Given the description of an element on the screen output the (x, y) to click on. 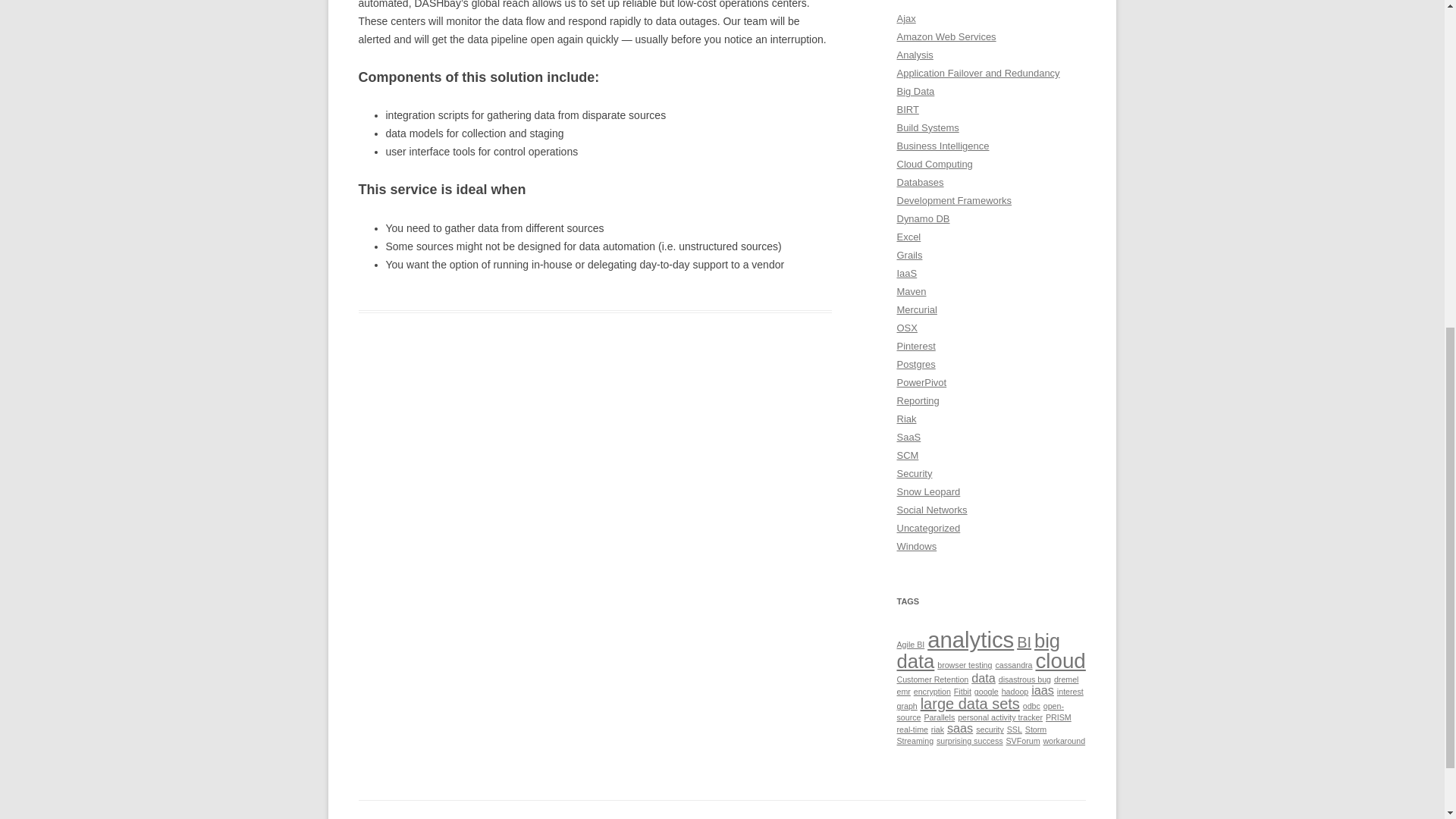
IaaS (906, 273)
Databases (919, 182)
Analysis (914, 54)
Dynamo DB (922, 218)
Build Systems (927, 127)
Maven (911, 291)
PowerPivot (921, 382)
Pinterest (915, 346)
Mercurial (916, 309)
Big Data (915, 91)
